Given the description of an element on the screen output the (x, y) to click on. 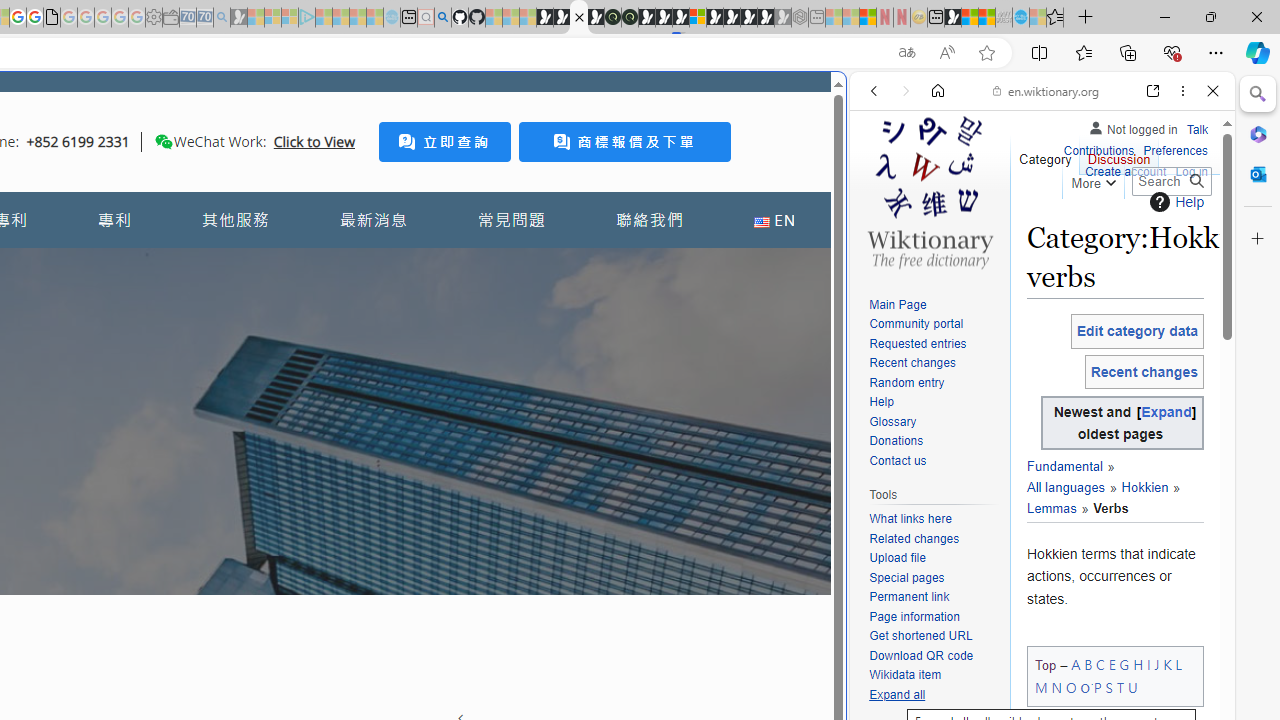
Page information (934, 616)
Top (1046, 665)
Services - Maintenance | Sky Blue Bikes - Sky Blue Bikes (1020, 17)
Community portal (916, 323)
What links here (910, 519)
Visit the main page (929, 190)
N (1056, 687)
